Given the description of an element on the screen output the (x, y) to click on. 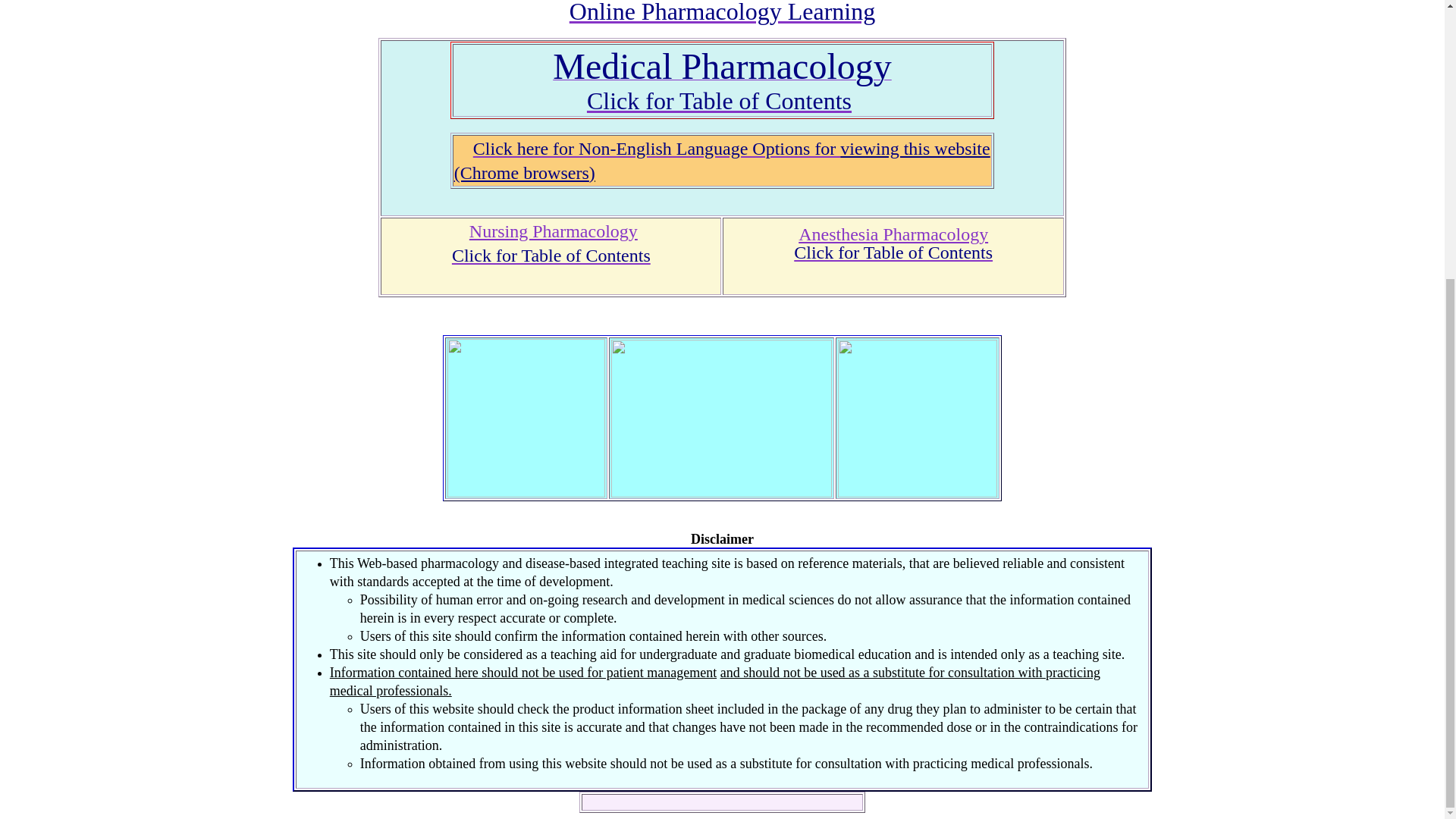
Click for Table of Contents (718, 100)
Click for Table of Contents (892, 252)
Anesthesia Pharmacology (892, 234)
Online Pharmacology Learning (722, 12)
Nursing Pharmacology (552, 230)
Click for Table of Contents (550, 255)
Medical Pharmacology (722, 74)
